Given the description of an element on the screen output the (x, y) to click on. 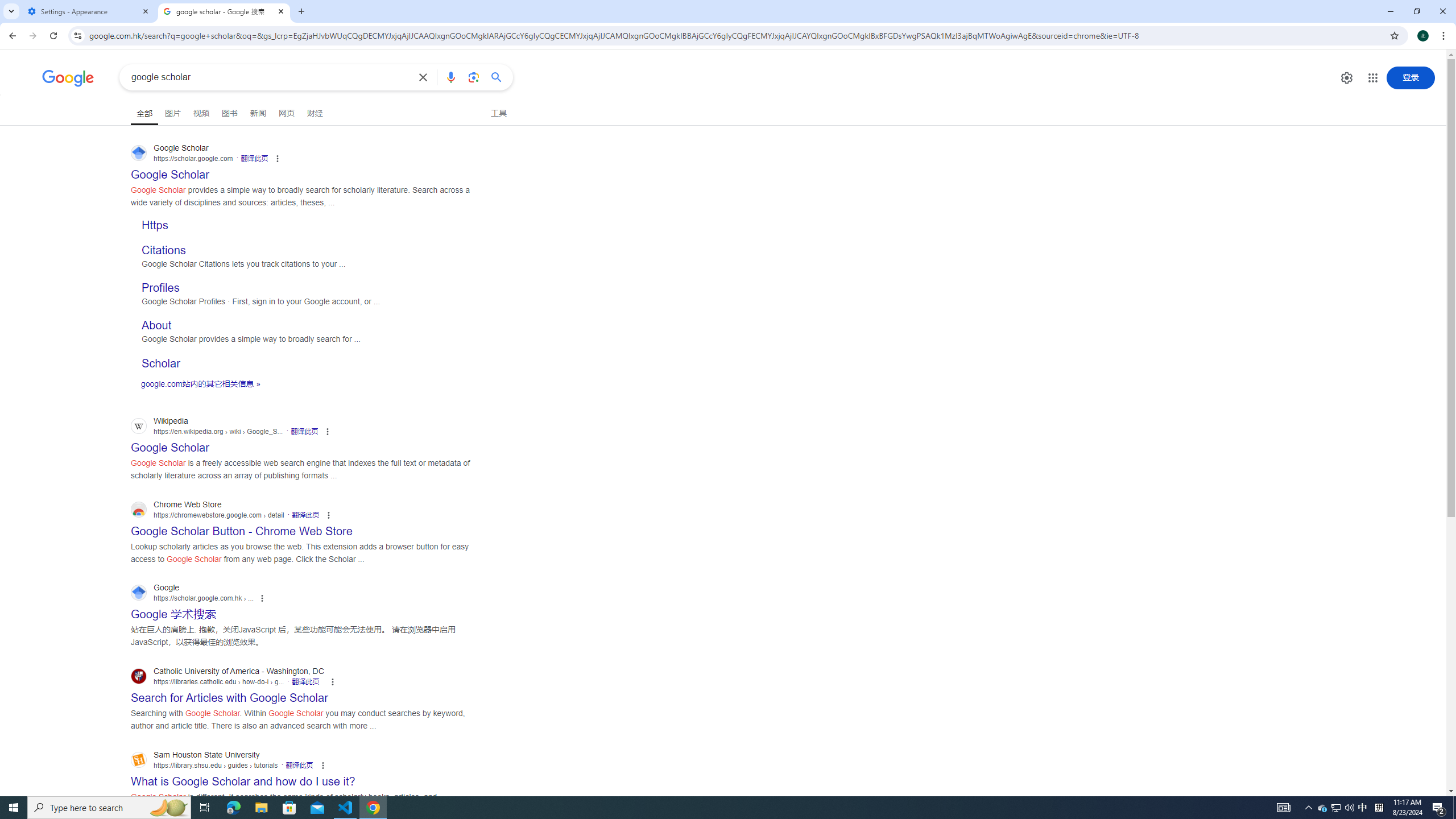
Settings - Appearance (88, 11)
About (156, 325)
